Given the description of an element on the screen output the (x, y) to click on. 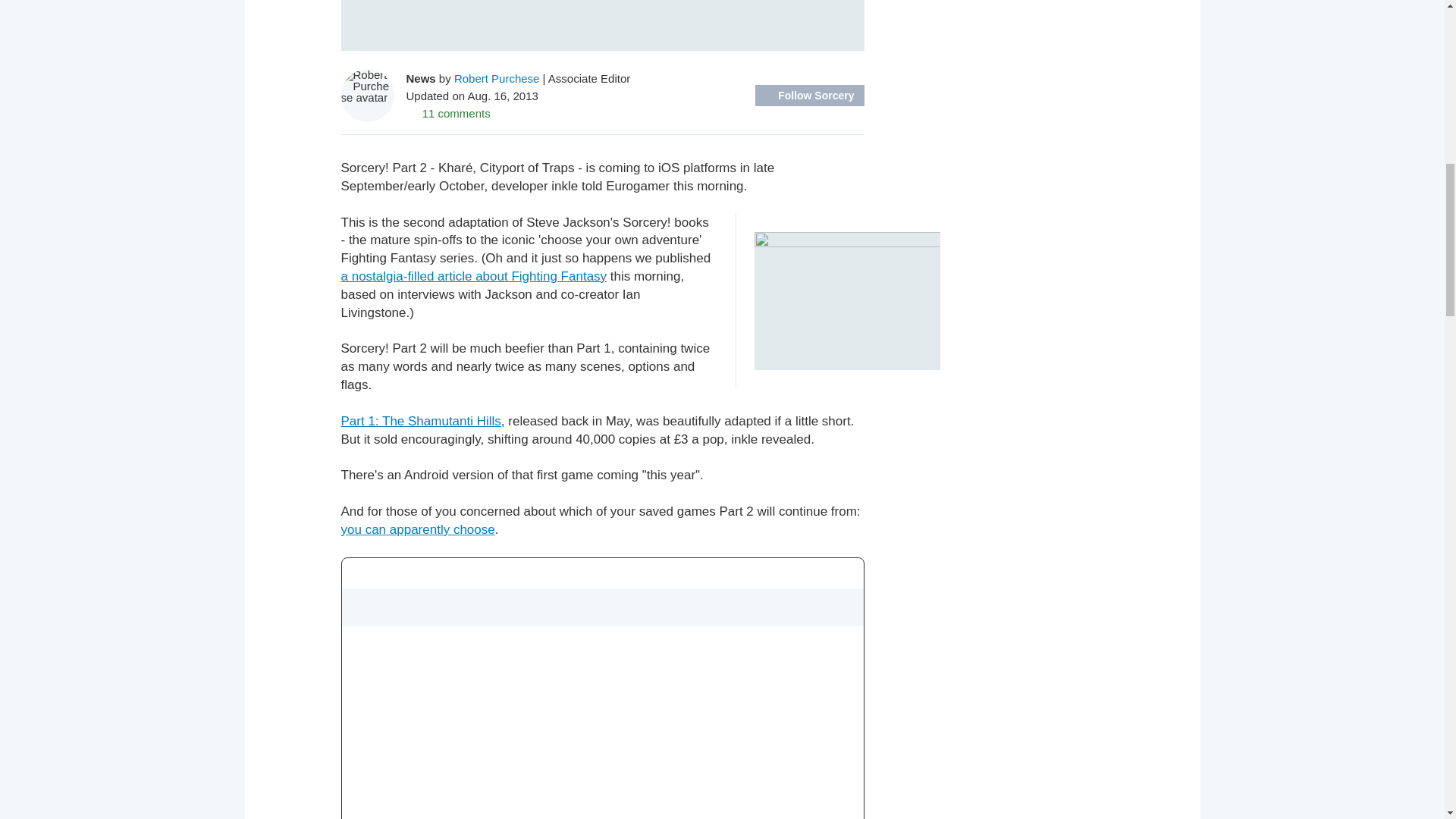
a nostalgia-filled article about Fighting Fantasy (473, 276)
11 comments (448, 112)
you can apparently choose (417, 529)
Follow Sorcery (809, 95)
Robert Purchese (497, 77)
Part 1: The Shamutanti Hills (420, 421)
